Given the description of an element on the screen output the (x, y) to click on. 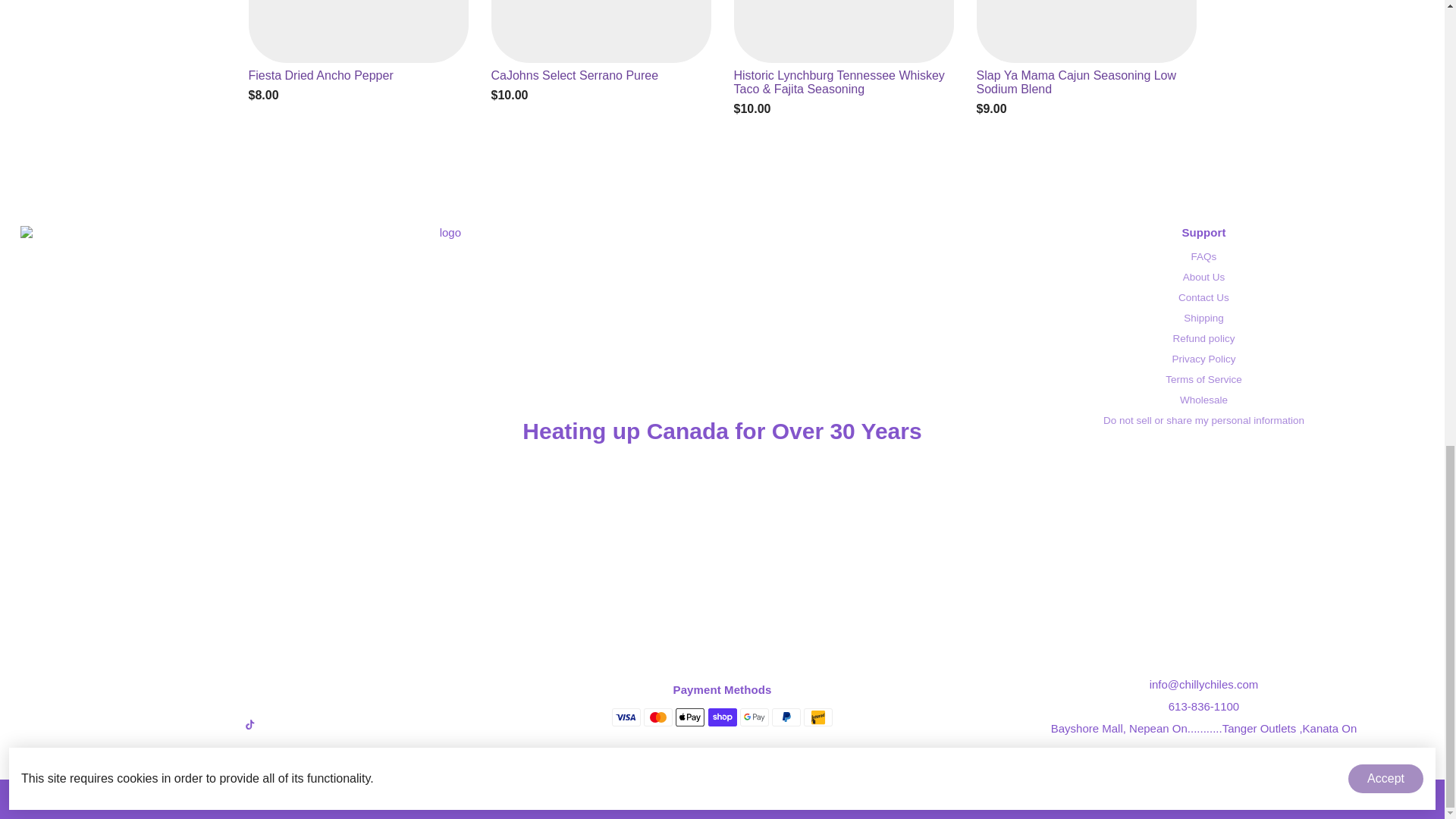
Visa (625, 717)
PayPal (785, 717)
Apple Pay (689, 717)
Shop Pay (721, 717)
Mastercard (657, 717)
Interac (817, 717)
Google Pay (753, 717)
